Given the description of an element on the screen output the (x, y) to click on. 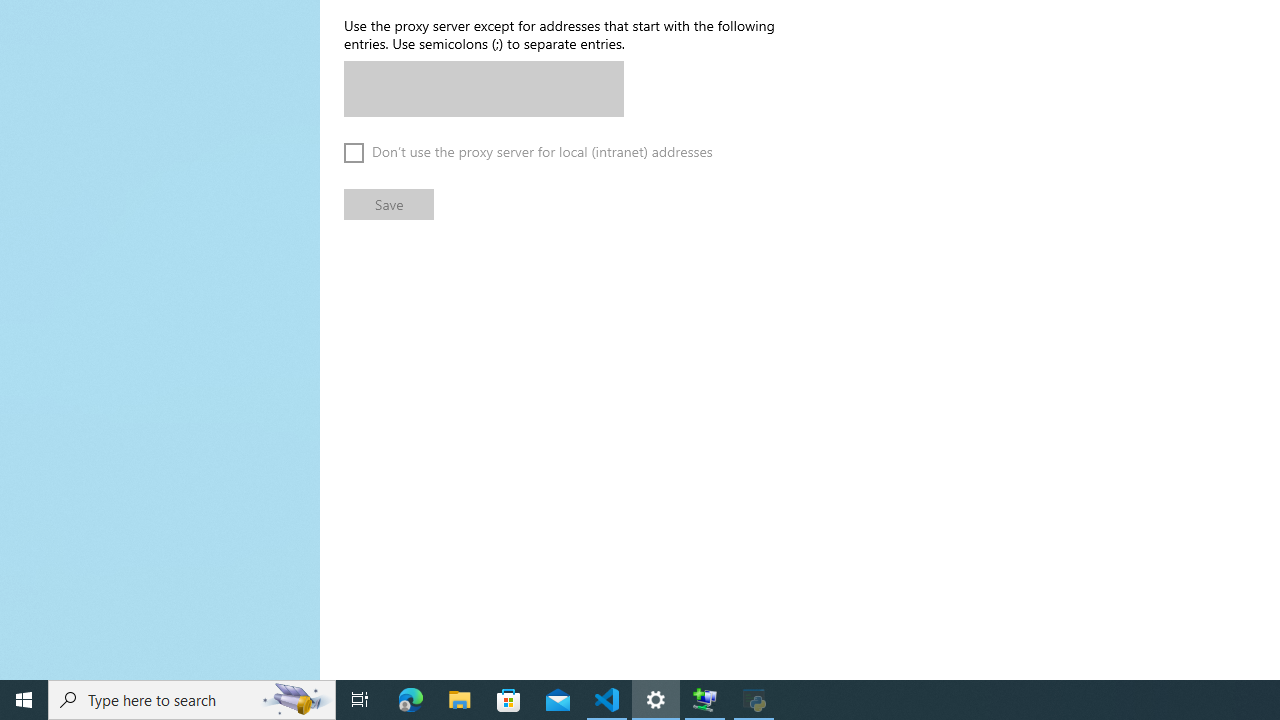
Extensible Wizards Host Process - 1 running window (704, 699)
Save (388, 204)
